Given the description of an element on the screen output the (x, y) to click on. 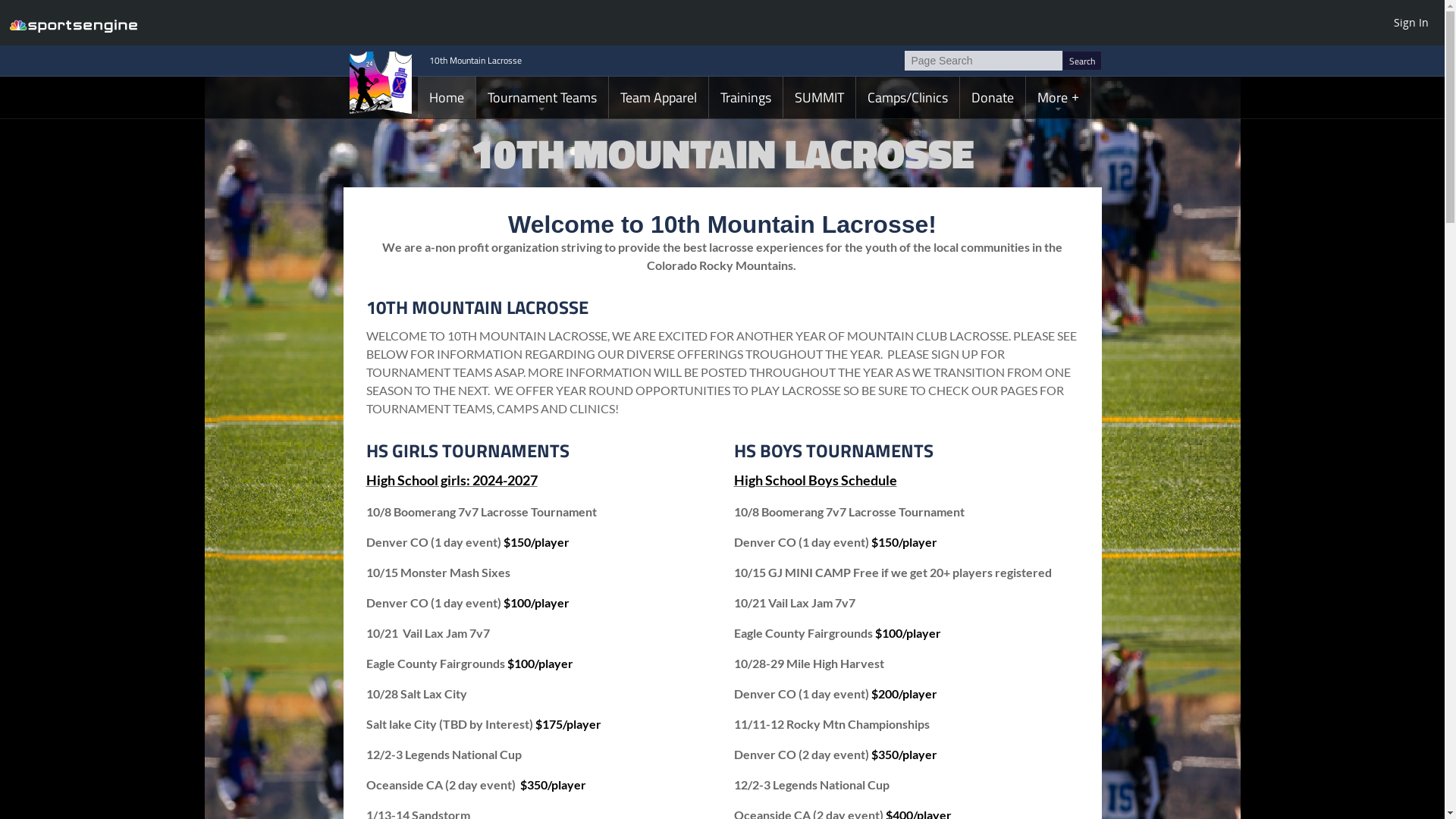
Sign In Element type: text (1410, 22)
Trainings Element type: text (744, 97)
More Element type: text (1057, 97)
SportsEngine Element type: text (73, 22)
Team Apparel Element type: text (657, 97)
Camps/Clinics Element type: text (906, 97)
SUMMIT Element type: text (818, 97)
Home Element type: text (445, 97)
Donate Element type: text (992, 97)
Tournament Teams Element type: text (542, 97)
